Given the description of an element on the screen output the (x, y) to click on. 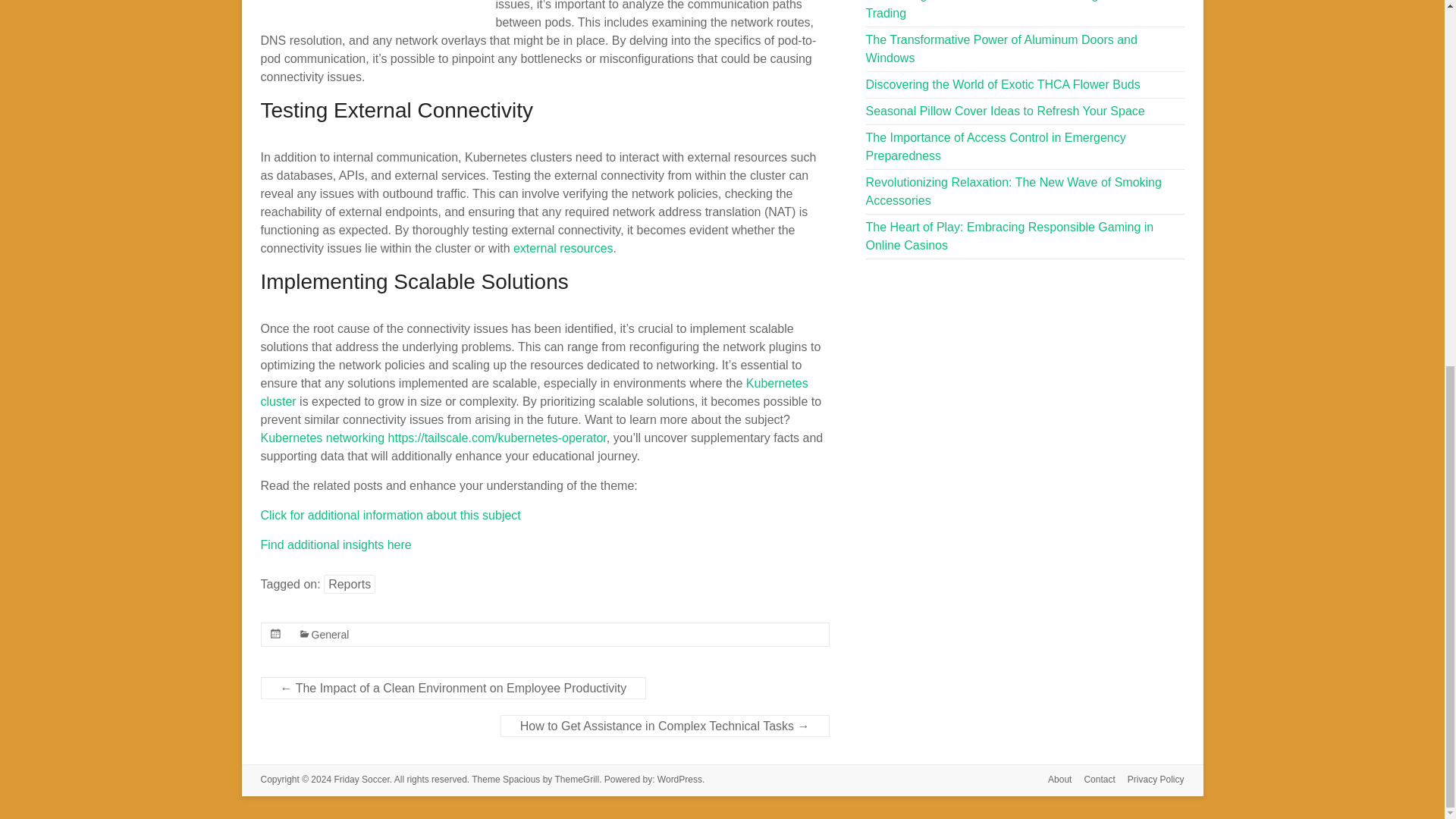
Friday Soccer (360, 778)
Contact (1093, 780)
The Importance of Access Control in Emergency Preparedness (995, 146)
Find additional insights here (336, 544)
About (1053, 780)
Spacious (521, 778)
The Transformative Power of Aluminum Doors and Windows (1001, 48)
Click for additional information about this subject (390, 514)
